Given the description of an element on the screen output the (x, y) to click on. 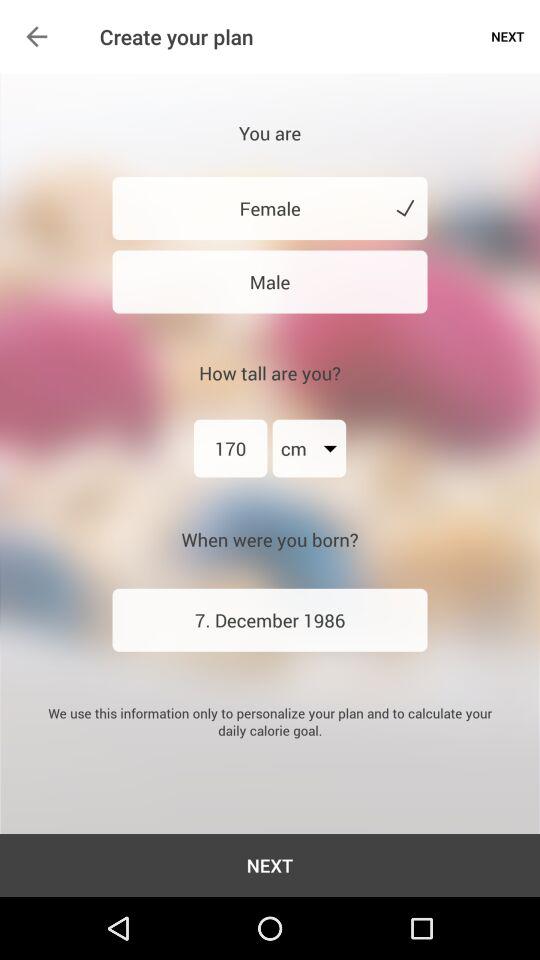
turn off 170 icon (230, 448)
